Given the description of an element on the screen output the (x, y) to click on. 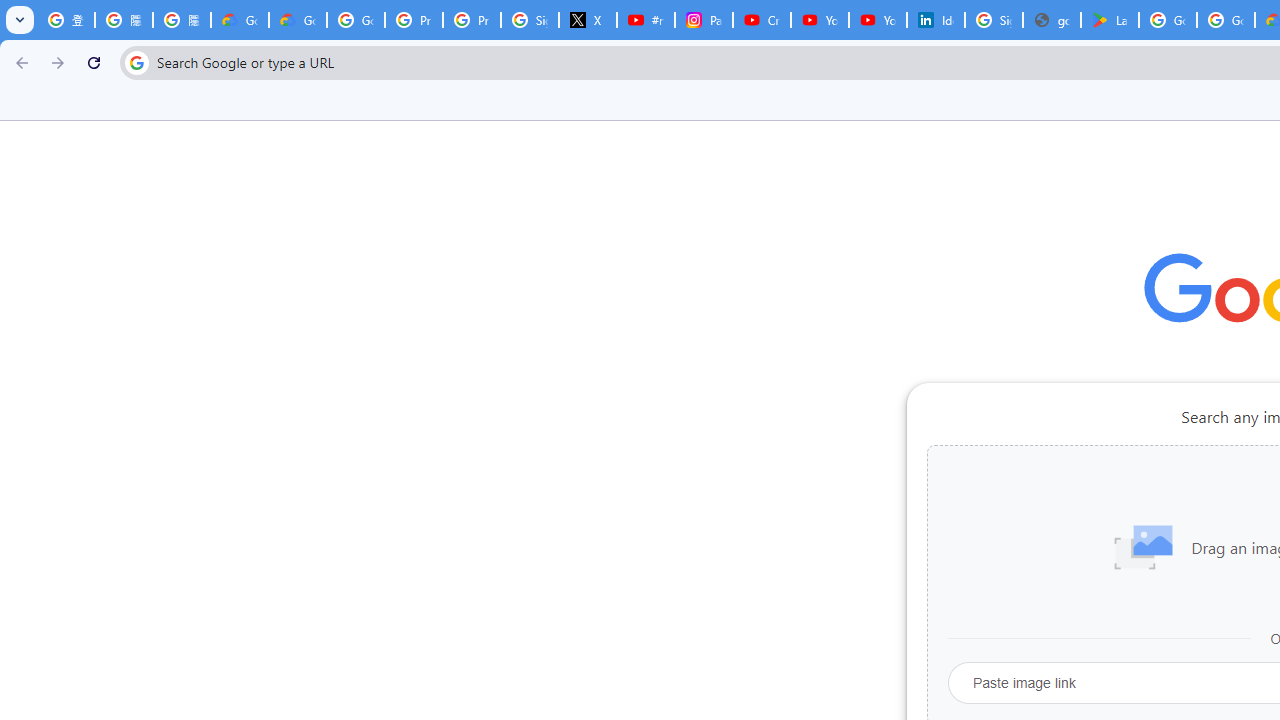
X (587, 20)
Sign in - Google Accounts (529, 20)
Google Cloud Privacy Notice (239, 20)
Privacy Help Center - Policies Help (471, 20)
